Given the description of an element on the screen output the (x, y) to click on. 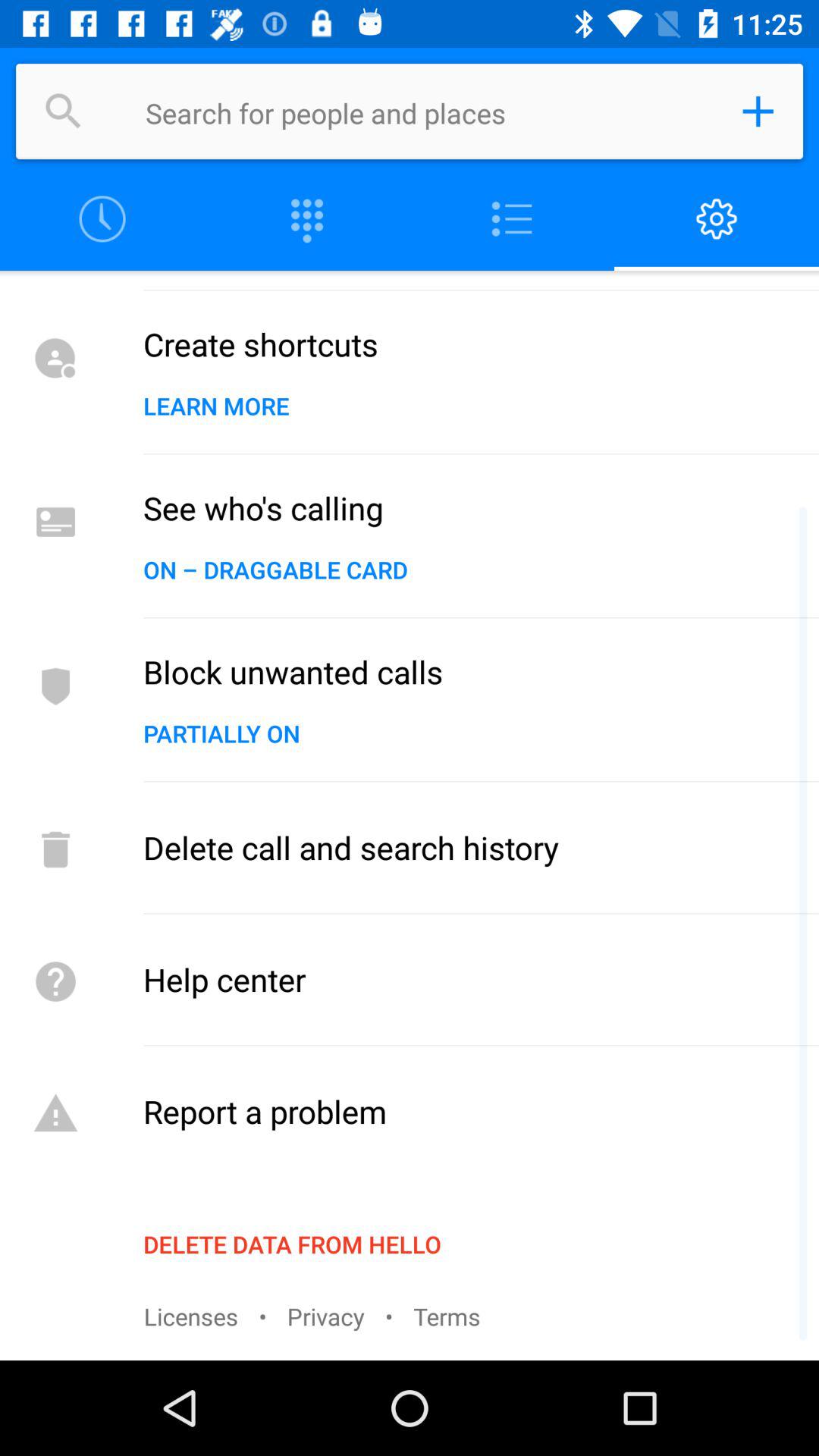
recent searches (102, 219)
